Given the description of an element on the screen output the (x, y) to click on. 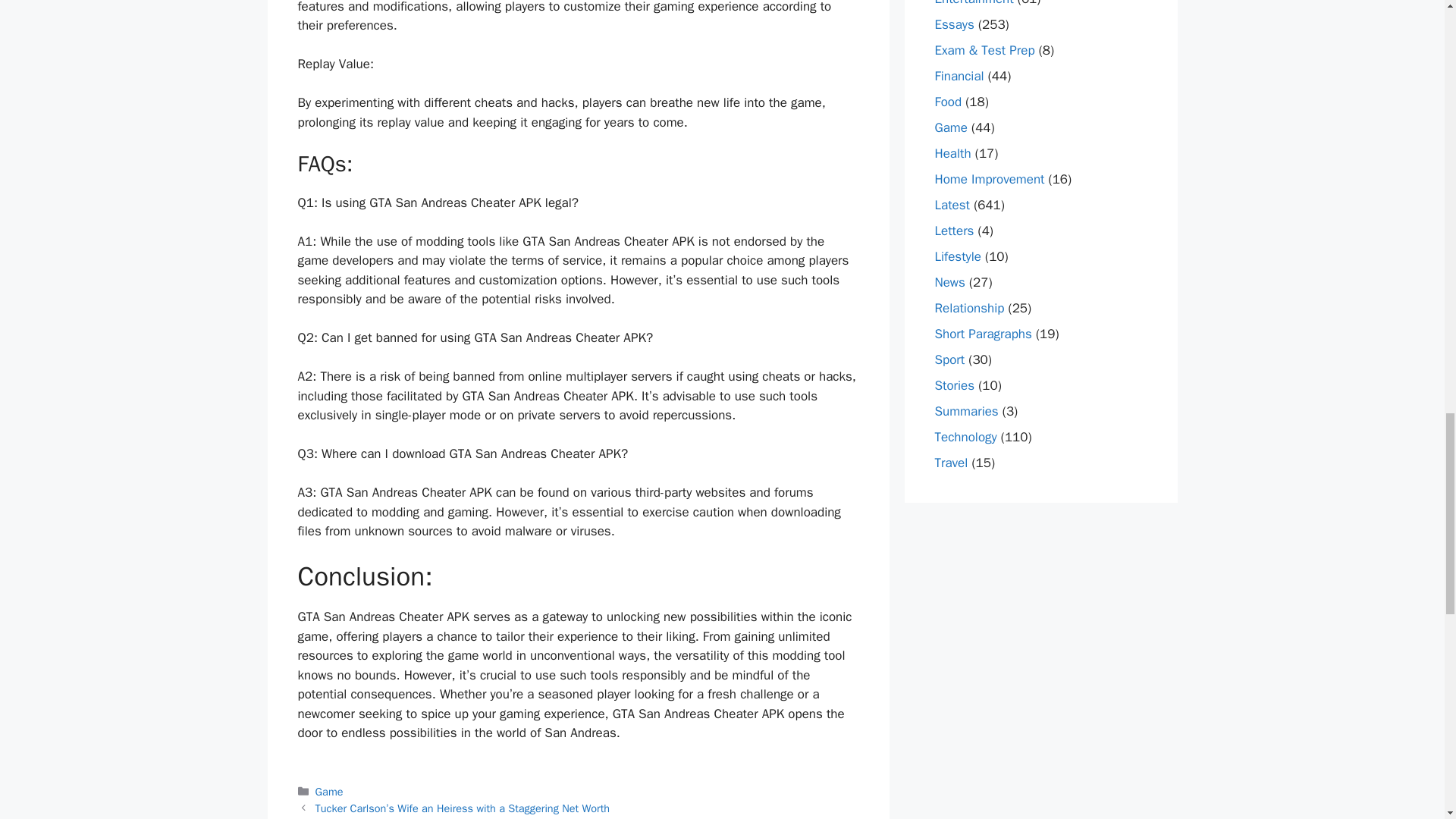
Food (947, 101)
Financial (959, 75)
Game (329, 791)
Essays (954, 24)
Entertainment (973, 3)
